Given the description of an element on the screen output the (x, y) to click on. 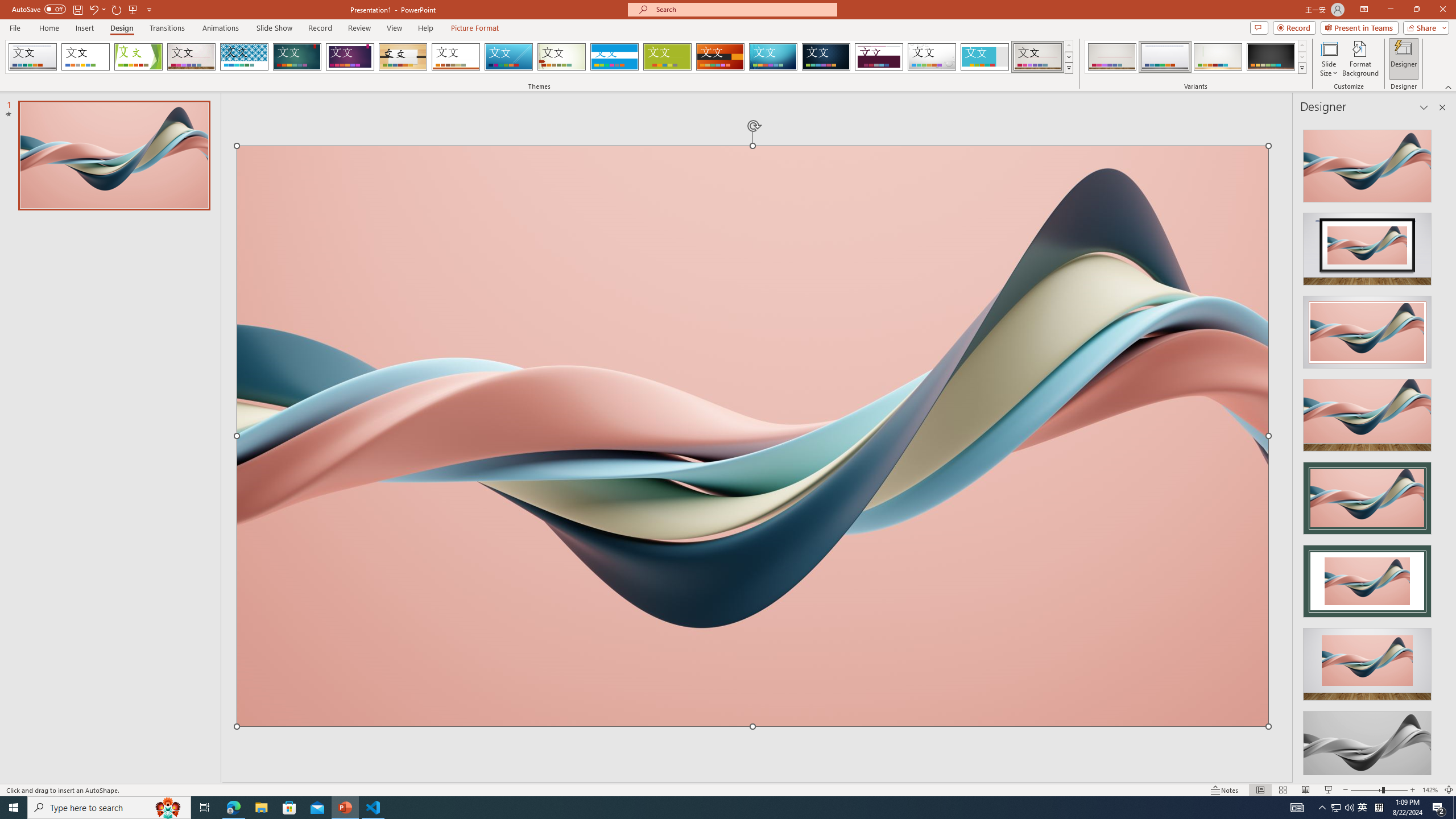
AutomationID: SlideThemesGallery (539, 56)
Retrospect (455, 56)
Picture Format (475, 28)
Facet (138, 56)
Slice (508, 56)
Integral (244, 56)
